Given the description of an element on the screen output the (x, y) to click on. 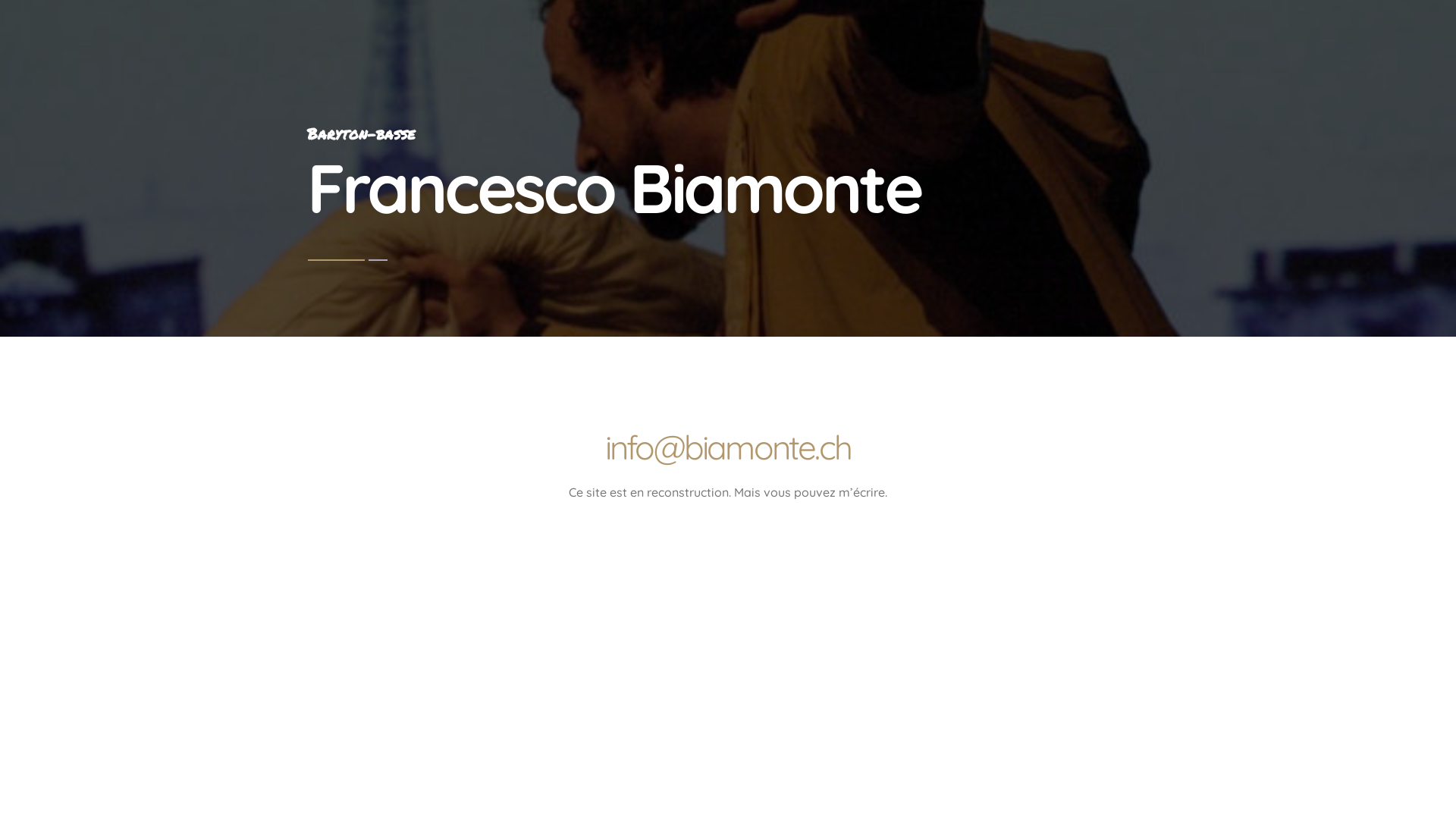
info@biamonte.ch Element type: text (727, 446)
